Given the description of an element on the screen output the (x, y) to click on. 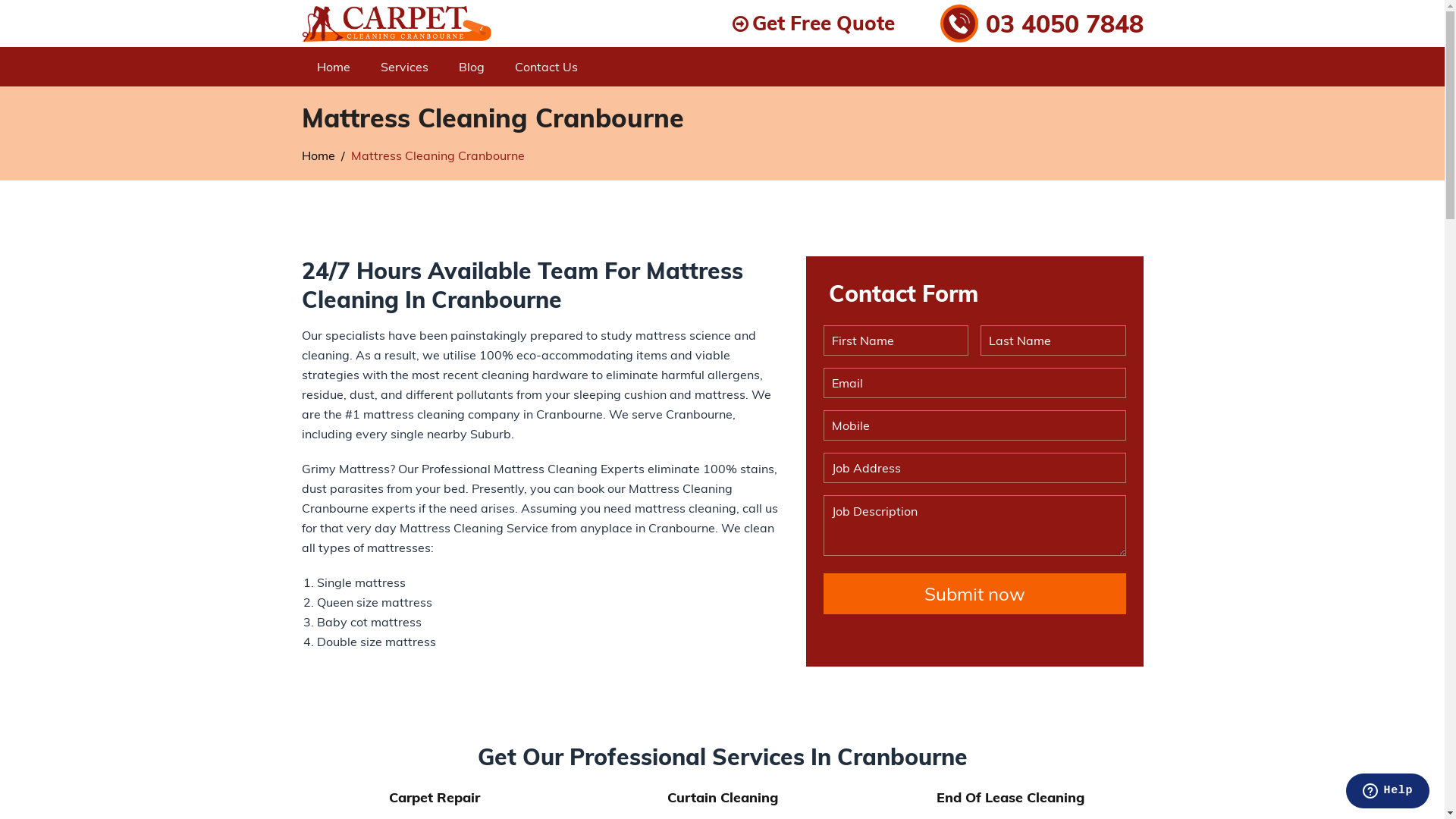
Services Element type: text (404, 66)
Submit now Element type: text (974, 593)
Carpet Repair Element type: text (433, 797)
Home Element type: text (318, 155)
Blog Element type: text (470, 66)
End Of Lease Cleaning Element type: text (1010, 797)
Home Element type: text (333, 66)
Opens a widget where you can chat to one of our agents Element type: hover (1387, 792)
Get Free Quote Element type: text (813, 23)
Curtain Cleaning Element type: text (722, 797)
Contact Us Element type: text (545, 66)
03 4050 7848 Element type: text (1041, 23)
